Given the description of an element on the screen output the (x, y) to click on. 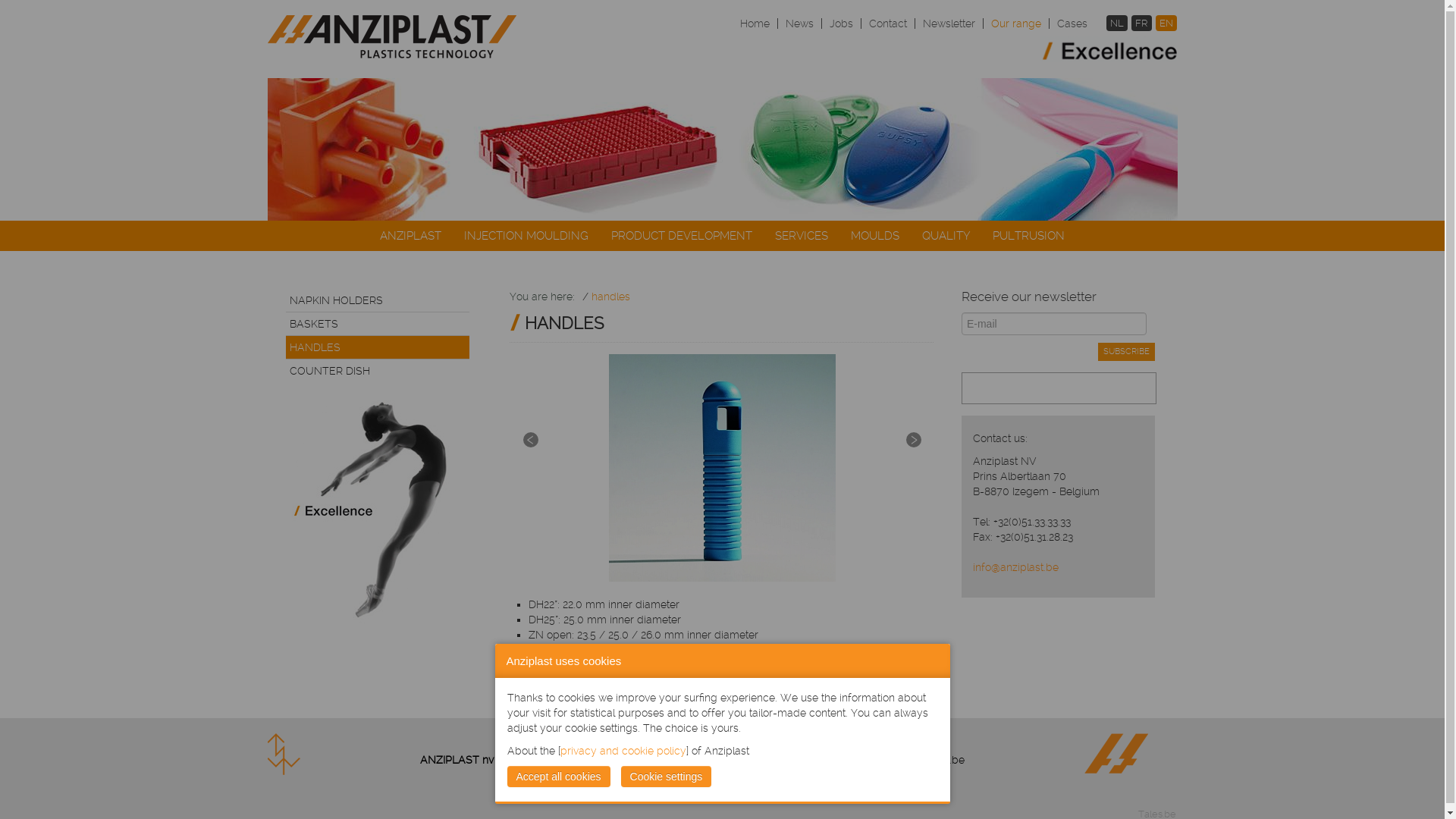
PULTRUSION Element type: text (1028, 235)
Terms and conditions of sale Element type: text (682, 774)
Contact Element type: text (887, 23)
QUALITY Element type: text (945, 235)
Home Element type: text (754, 23)
www.anziplast.be Element type: text (920, 759)
Our range Element type: text (1015, 23)
PRODUCT DEVELOPMENT Element type: text (681, 235)
ANZIPLAST Element type: text (410, 235)
FR Element type: text (1141, 23)
HANDLES Element type: text (377, 346)
EN Element type: text (1165, 23)
COUNTER DISH Element type: text (377, 370)
Newsletter Element type: text (948, 23)
SERVICES Element type: text (801, 235)
privacy and cookie policy Element type: text (622, 750)
INJECTION MOULDING Element type: text (526, 235)
Accept all cookies Element type: text (557, 776)
BASKETS Element type: text (377, 323)
News Element type: text (799, 23)
info@anziplast.be Element type: text (823, 759)
Subscribe Element type: text (1126, 351)
handles Element type: text (610, 296)
MOULDS Element type: text (875, 235)
NAPKIN HOLDERS Element type: text (377, 299)
info@anziplast.be Element type: text (1015, 567)
Cases Element type: text (1068, 23)
Cookie settings Element type: text (666, 776)
Jobs Element type: text (841, 23)
NL Element type: text (1116, 23)
